Given the description of an element on the screen output the (x, y) to click on. 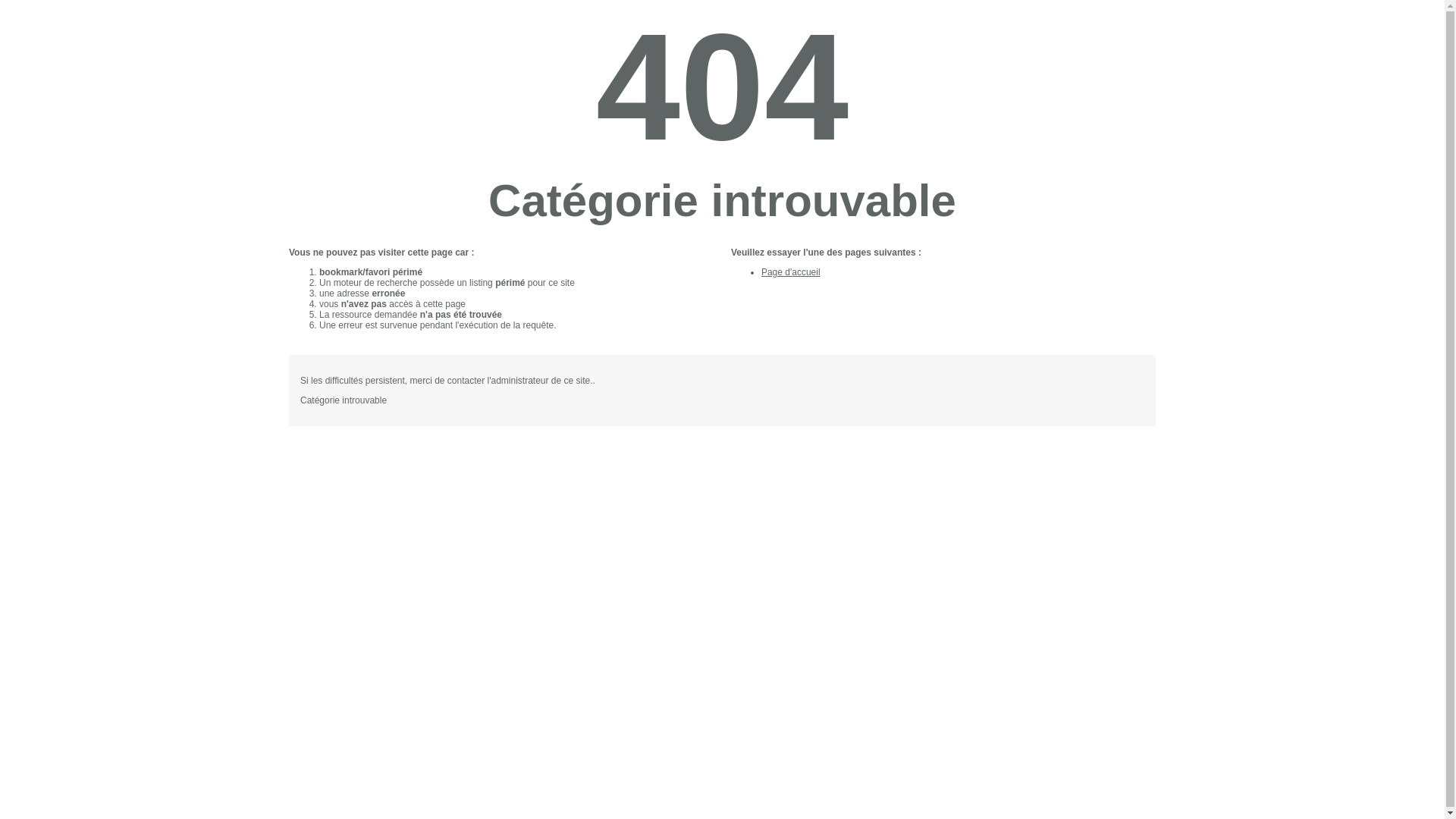
Page d'accueil Element type: text (790, 271)
